Given the description of an element on the screen output the (x, y) to click on. 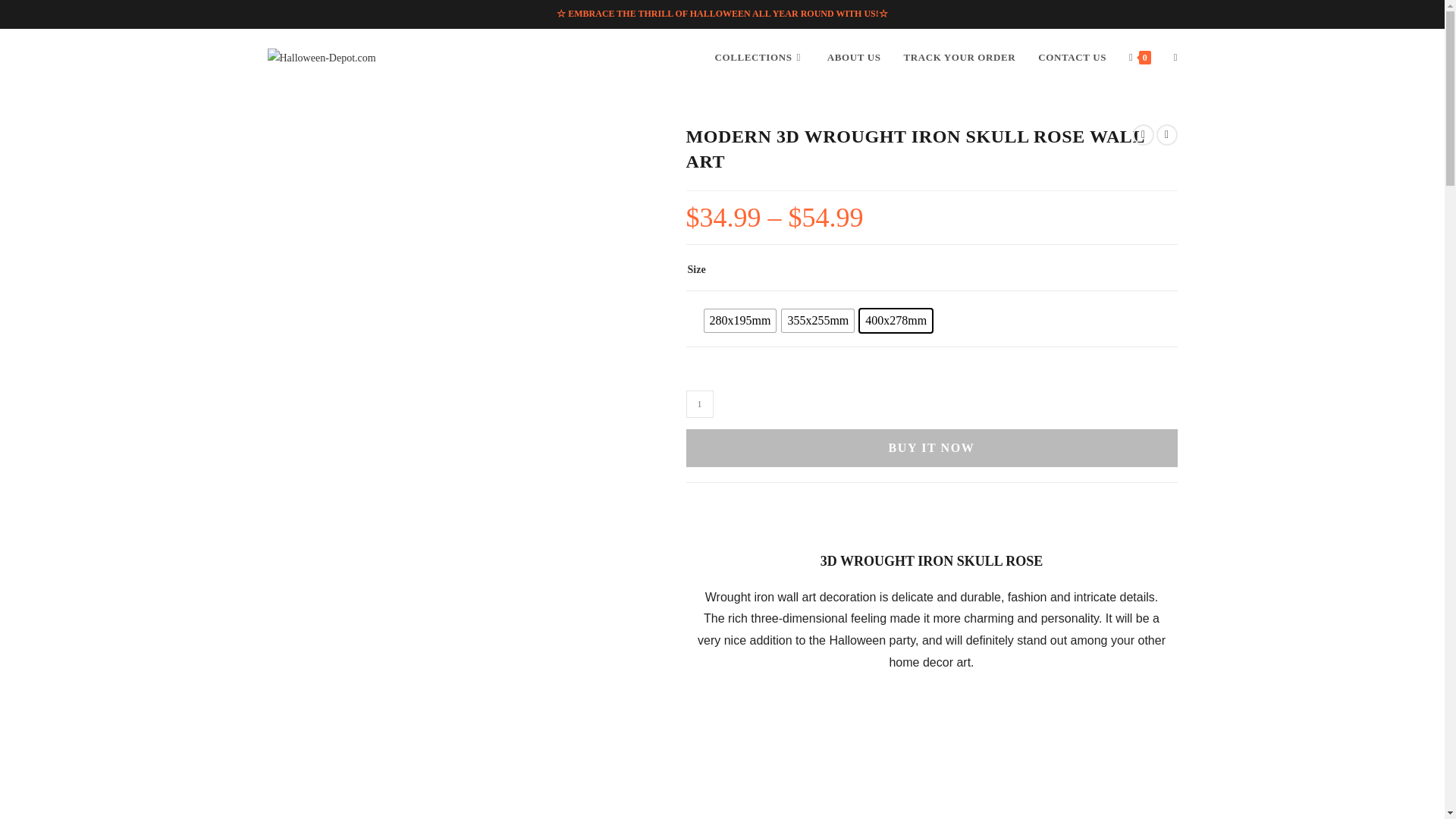
280x195mm (739, 320)
400x278mm (895, 320)
0 (1139, 57)
CONTACT US (1072, 57)
ABOUT US (853, 57)
1 (699, 403)
COLLECTIONS (759, 57)
355x255mm (817, 320)
TRACK YOUR ORDER (959, 57)
